Given the description of an element on the screen output the (x, y) to click on. 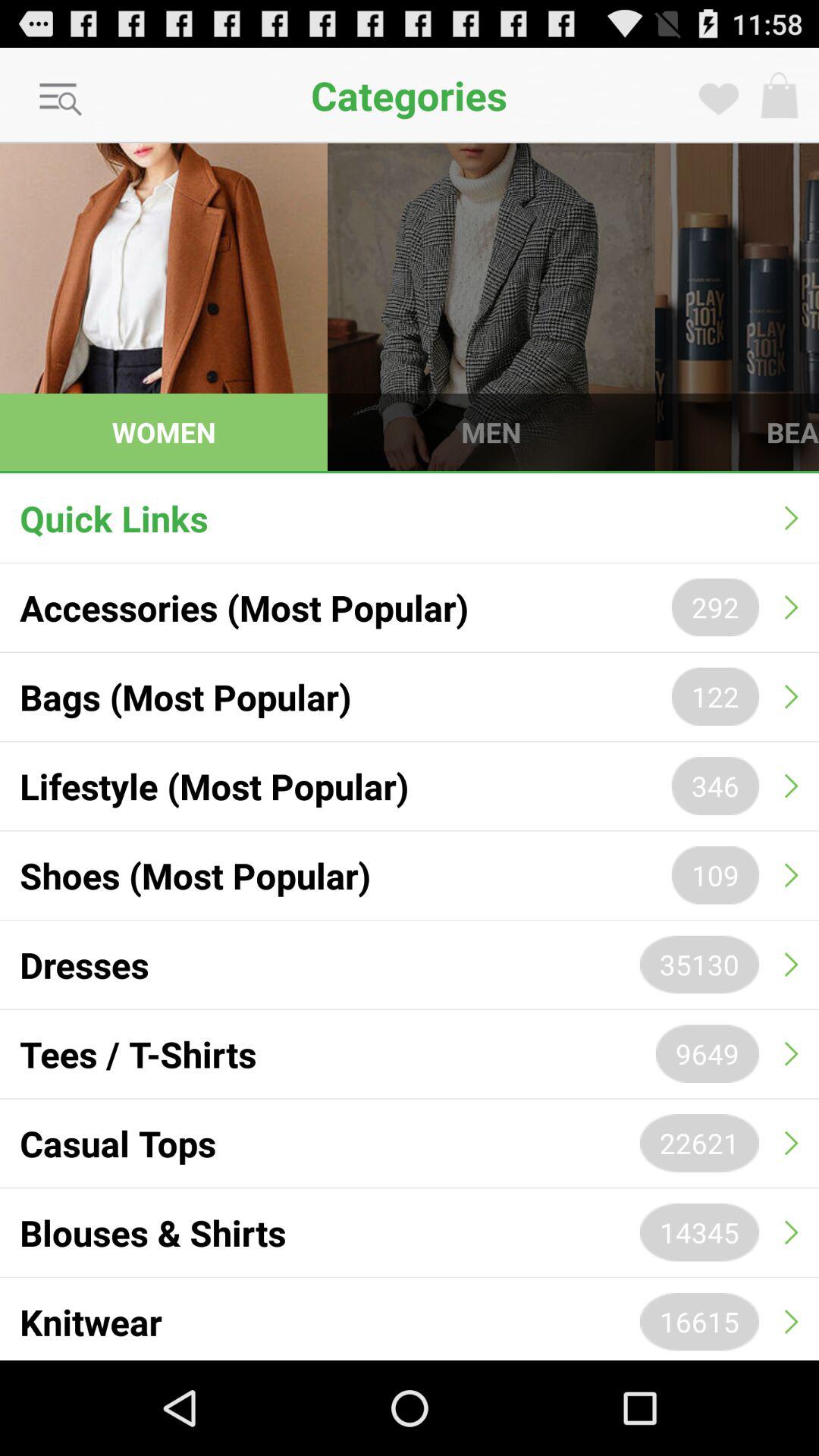
explore menu options (61, 100)
